Given the description of an element on the screen output the (x, y) to click on. 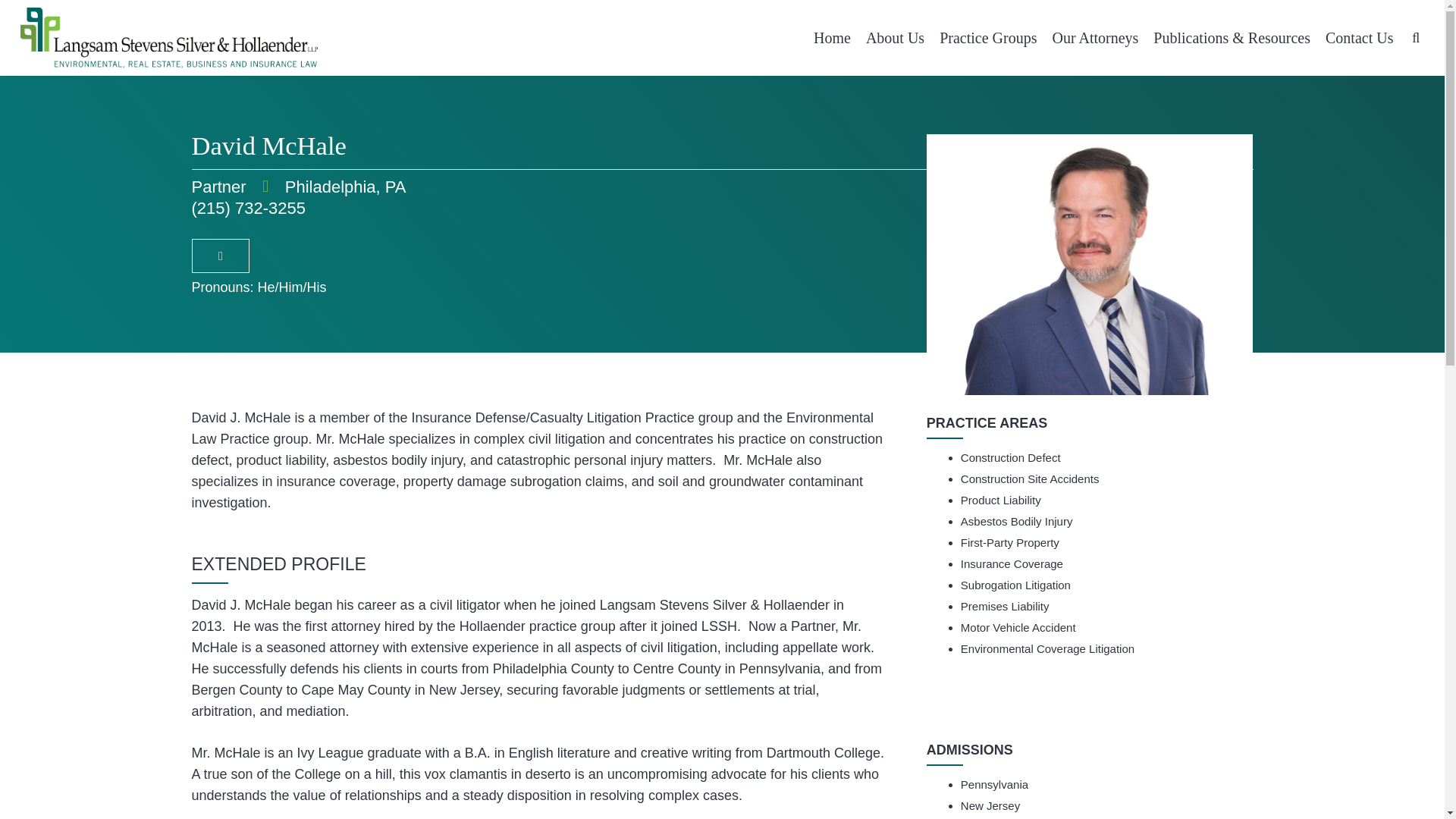
Sitemap (1072, 780)
About Us (895, 38)
Our Attorneys (1094, 38)
856.727.0057 (897, 575)
215.732.3255 (621, 575)
Contact Us (1358, 38)
Practice Groups (987, 38)
Disclaimer (578, 780)
LinkedIn (722, 688)
